Given the description of an element on the screen output the (x, y) to click on. 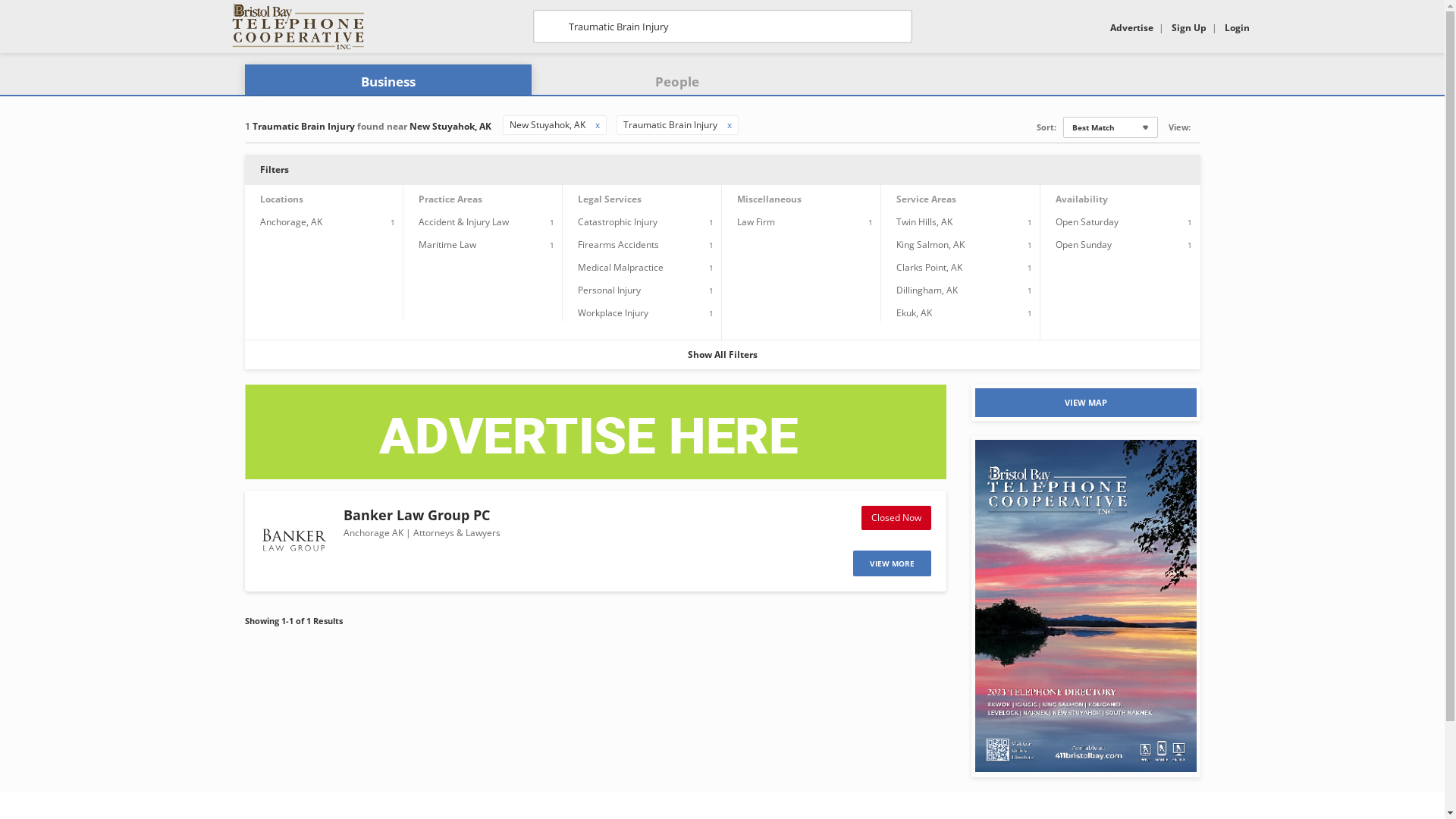
Maritime Law Element type: text (447, 244)
Firearms Accidents Element type: text (617, 244)
x Element type: text (728, 124)
VIEW MAP Element type: text (1085, 402)
Sign Up Element type: text (1187, 27)
Advertise Element type: text (1131, 27)
Workplace Injury Element type: text (612, 312)
Law Firm Element type: text (756, 221)
Accident & Injury Law Element type: text (463, 221)
Personal Injury Element type: text (608, 289)
x Element type: text (596, 124)
King Salmon, AK Element type: text (930, 244)
Twin Hills, AK Element type: text (924, 221)
Clarks Point, AK Element type: text (929, 266)
Open Sunday Element type: text (1083, 244)
People Element type: text (677, 81)
Login Element type: text (1235, 27)
Filters Element type: text (721, 169)
Medical Malpractice Element type: text (620, 266)
VIEW MORE Element type: text (891, 563)
Show Open Element type: hover (1196, 126)
Catastrophic Injury Element type: text (617, 221)
Dillingham, AK Element type: text (926, 289)
Ekuk, AK Element type: text (913, 312)
Show All Filters Element type: text (721, 354)
Open Saturday Element type: text (1086, 221)
Anchorage, AK Element type: text (290, 221)
Banker Law Group PC Element type: text (415, 514)
